Given the description of an element on the screen output the (x, y) to click on. 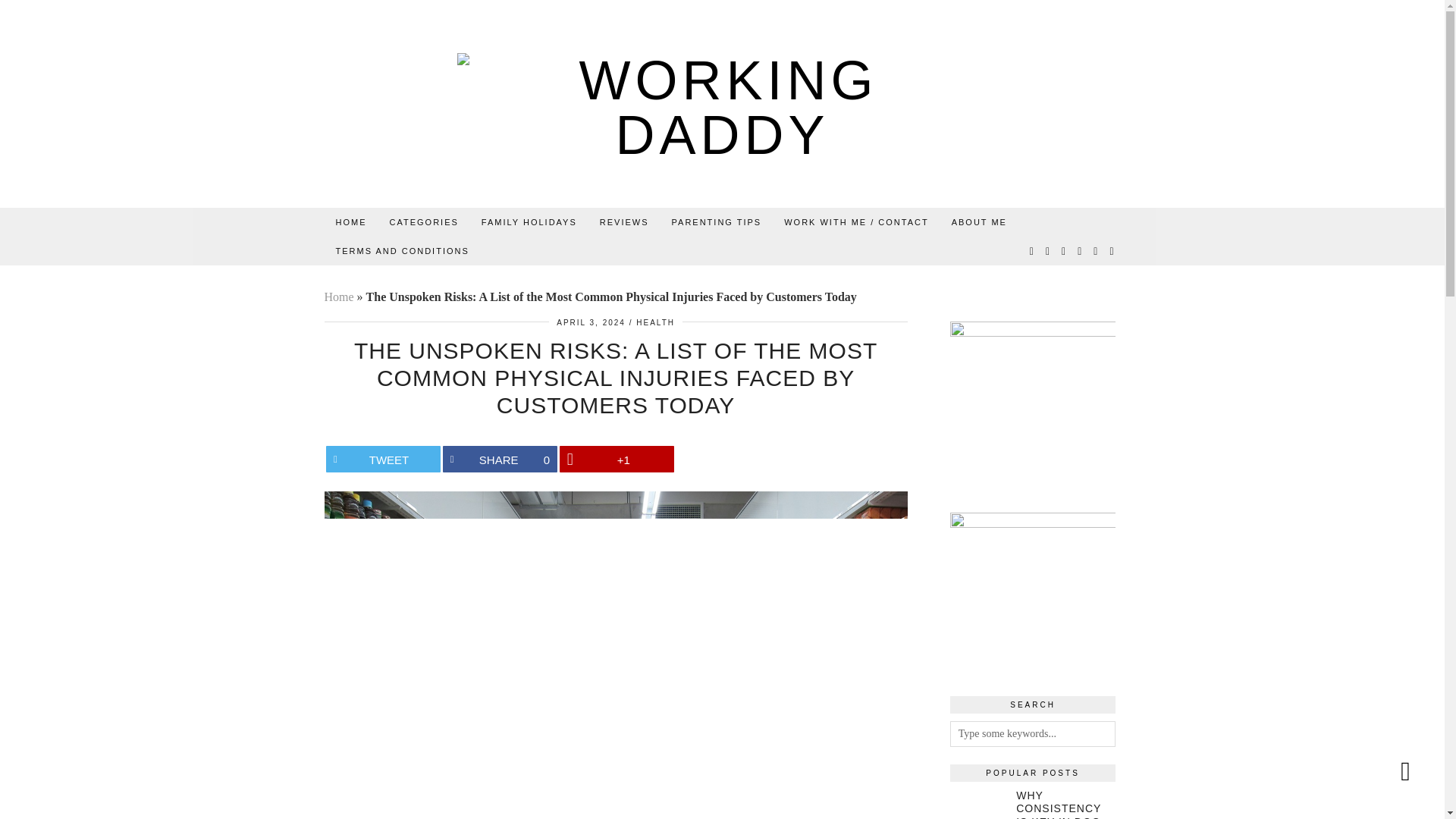
FAMILY HOLIDAYS (529, 222)
CATEGORIES (422, 222)
HOME (351, 222)
Home (351, 222)
Share on Facebook (499, 458)
Working Daddy (722, 107)
Tweet on Twitter (383, 458)
